Given the description of an element on the screen output the (x, y) to click on. 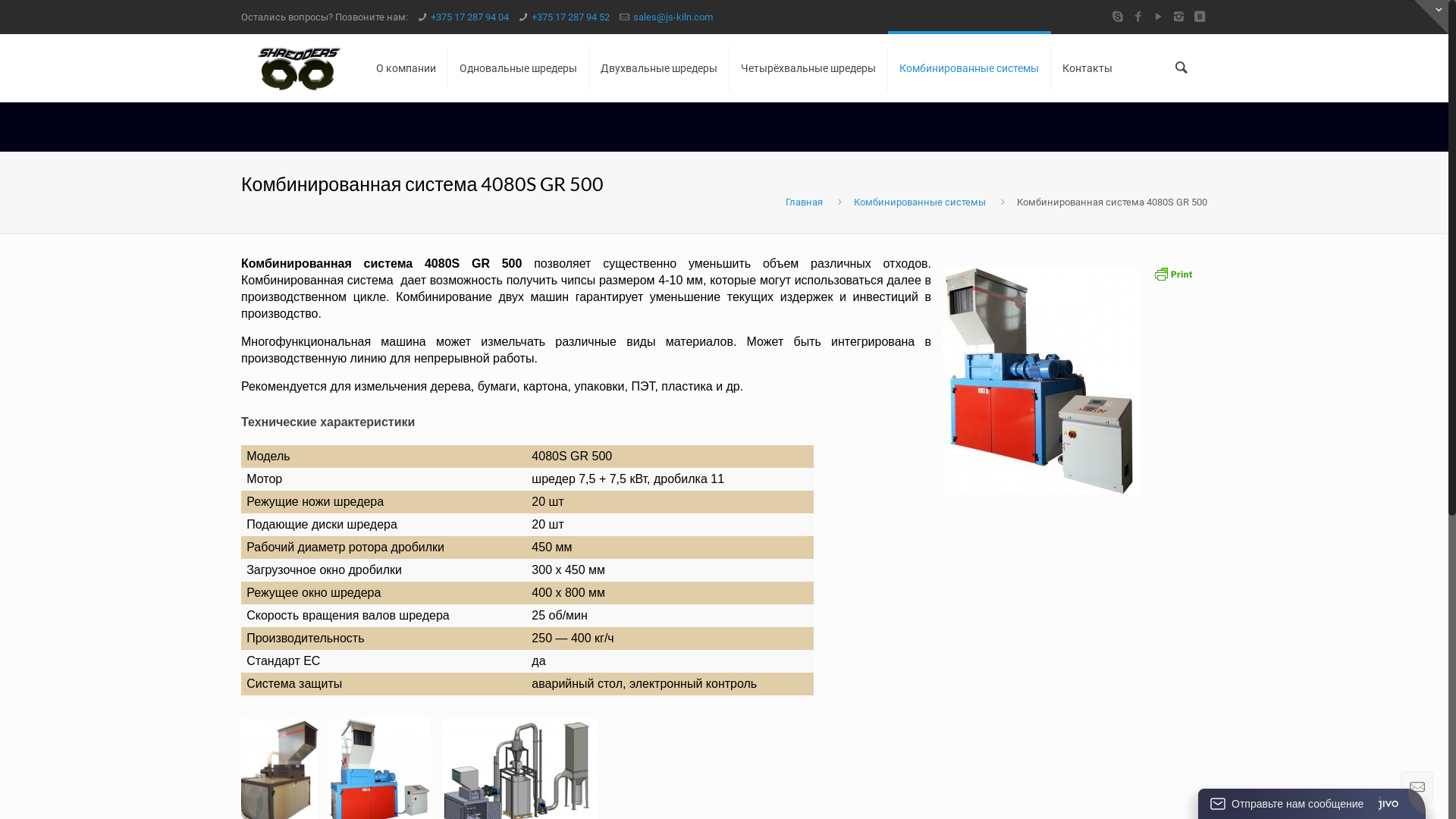
Facebook Element type: hover (1137, 16)
Shredders.by Element type: hover (299, 68)
Skype Element type: hover (1117, 16)
Printer Friendly, PDF & Email Element type: hover (1173, 279)
VKontakte Element type: hover (1199, 16)
YouTube Element type: hover (1158, 16)
+375 17 287 94 04 Element type: text (469, 16)
+375 17 287 94 52 Element type: text (570, 16)
sales@js-kiln.com Element type: text (672, 16)
Instagram Element type: hover (1178, 16)
